Given the description of an element on the screen output the (x, y) to click on. 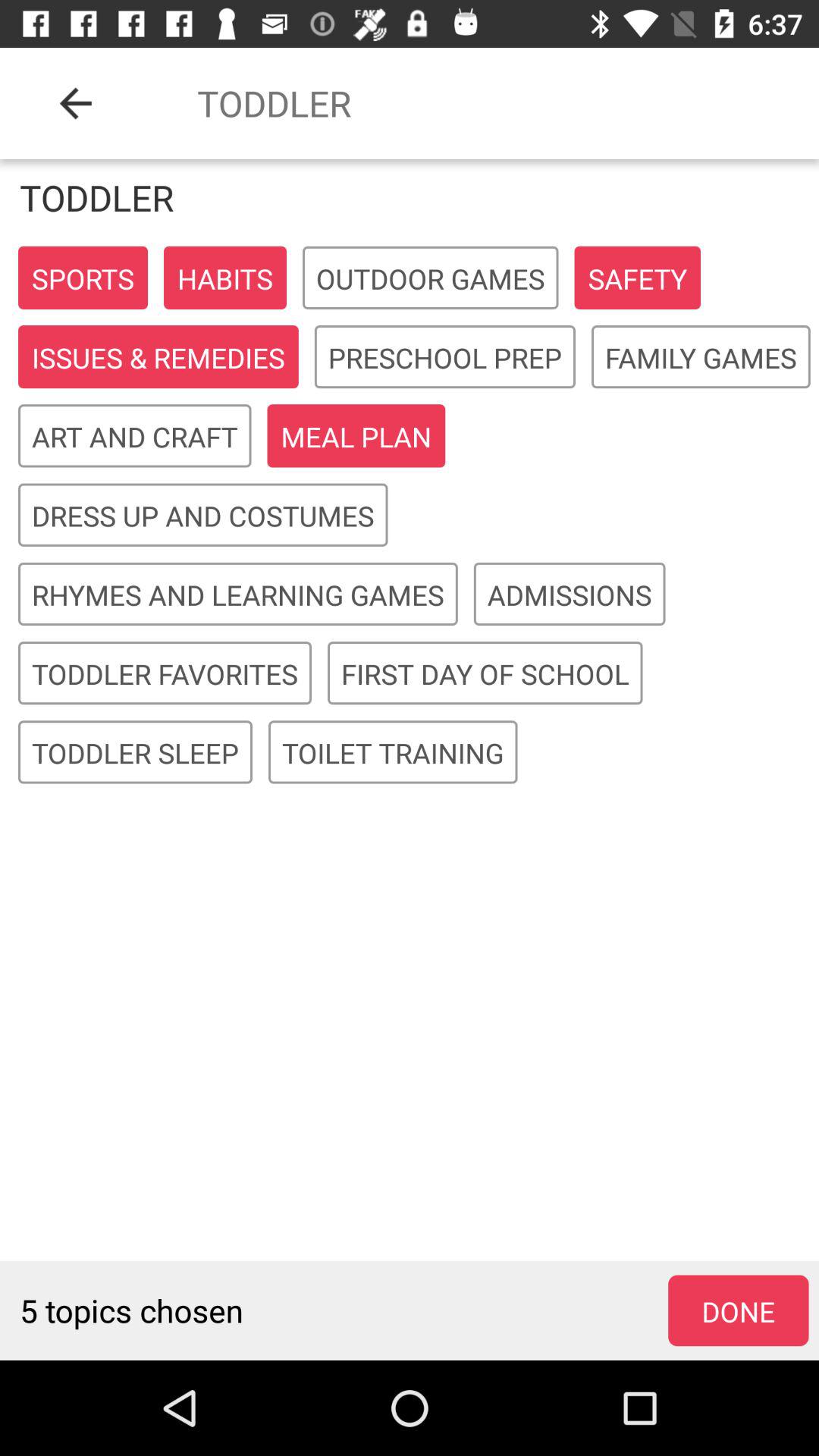
tap first day of (484, 673)
